Given the description of an element on the screen output the (x, y) to click on. 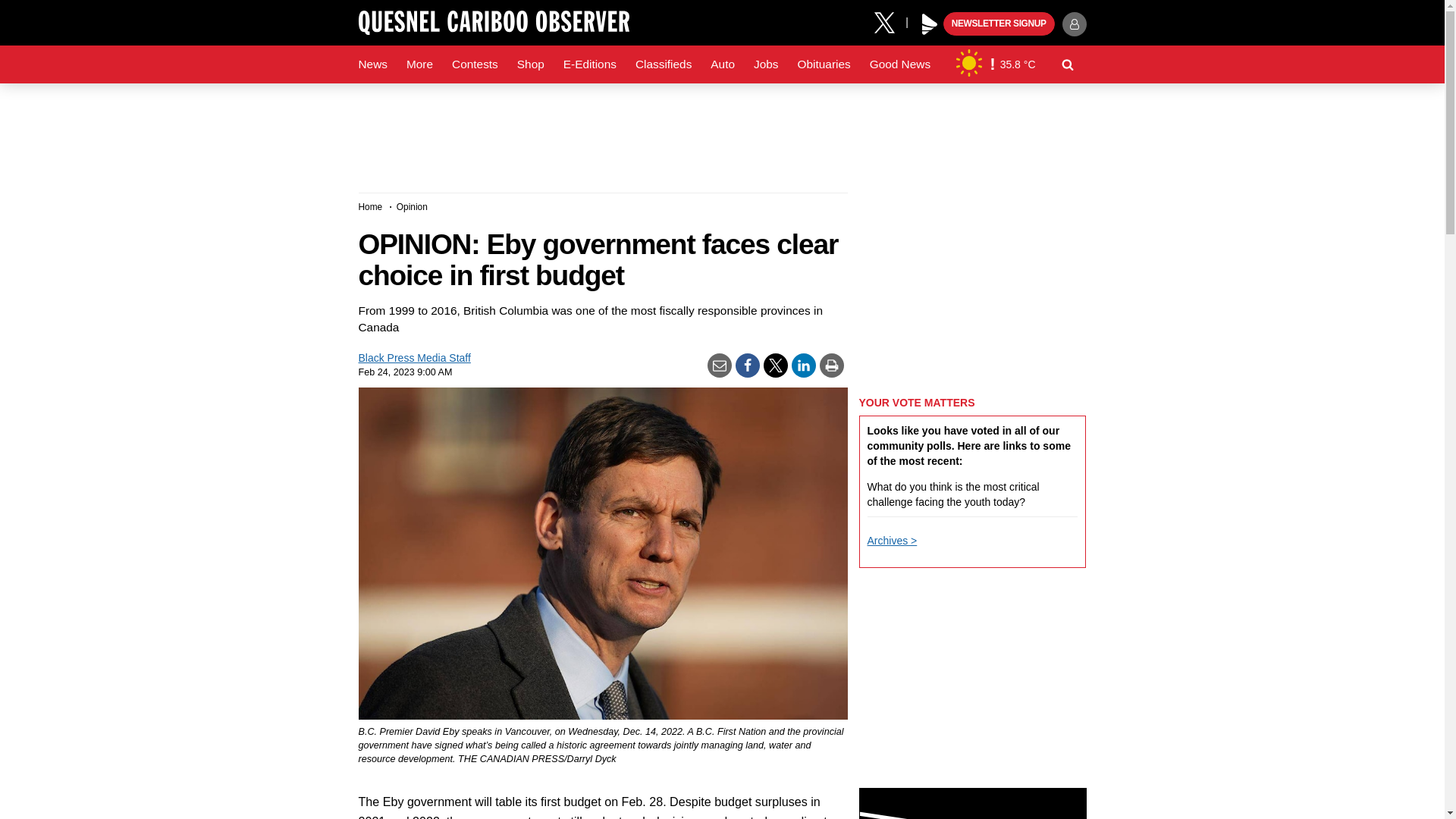
NEWSLETTER SIGNUP (998, 24)
Weather alert (992, 64)
Play (929, 24)
X (889, 21)
News (372, 64)
3rd party ad content (972, 803)
Black Press Media (929, 24)
